Given the description of an element on the screen output the (x, y) to click on. 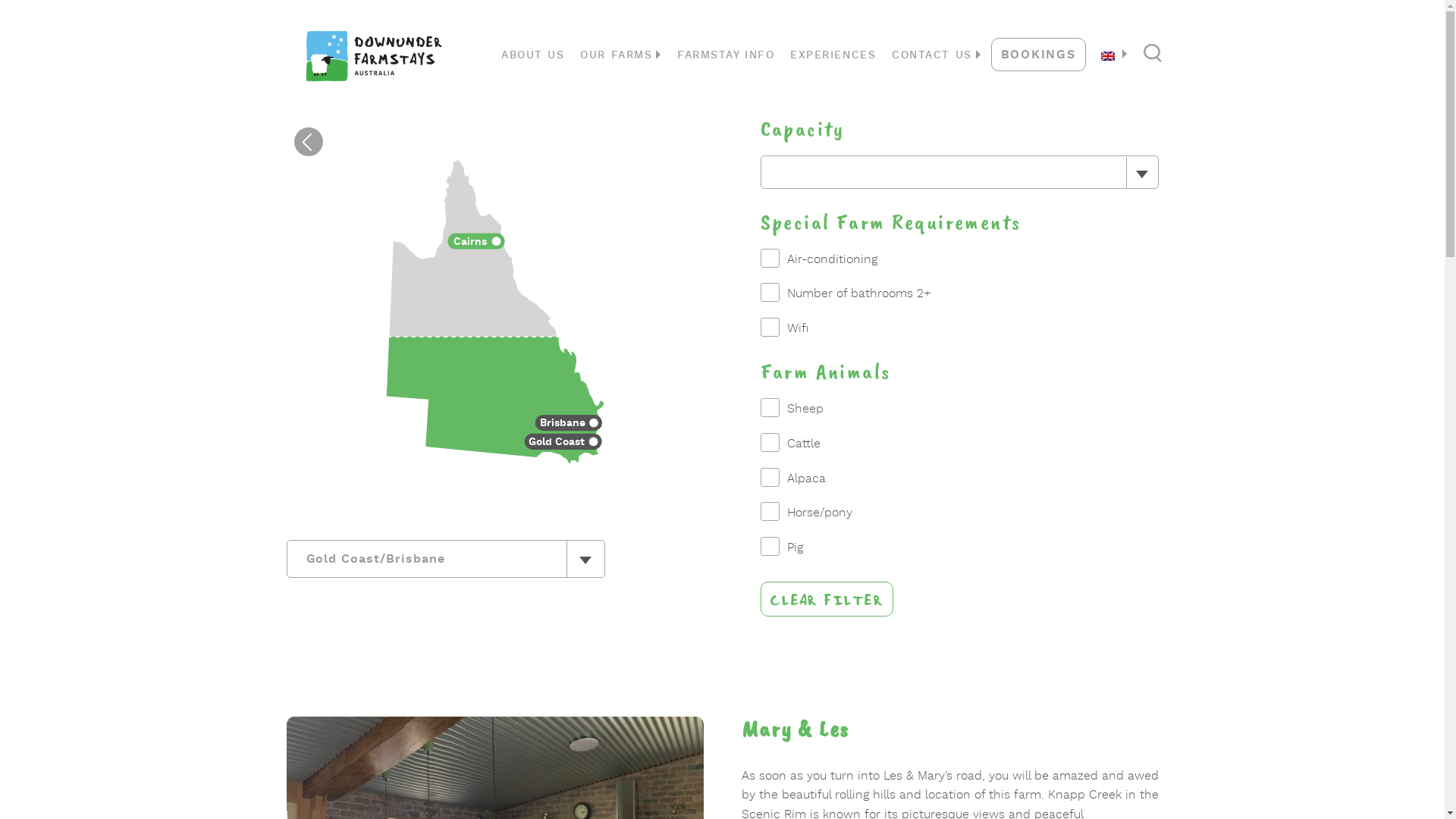
EXPERIENCES Element type: text (832, 55)
OUR FARMS Element type: text (621, 55)
Mary & Les Element type: text (795, 729)
CONTACT US Element type: text (936, 55)
ABOUT US Element type: text (532, 55)
FARMSTAY INFO Element type: text (725, 55)
BOOKINGS Element type: text (1038, 54)
CLEAR FILTER Element type: text (825, 598)
